Given the description of an element on the screen output the (x, y) to click on. 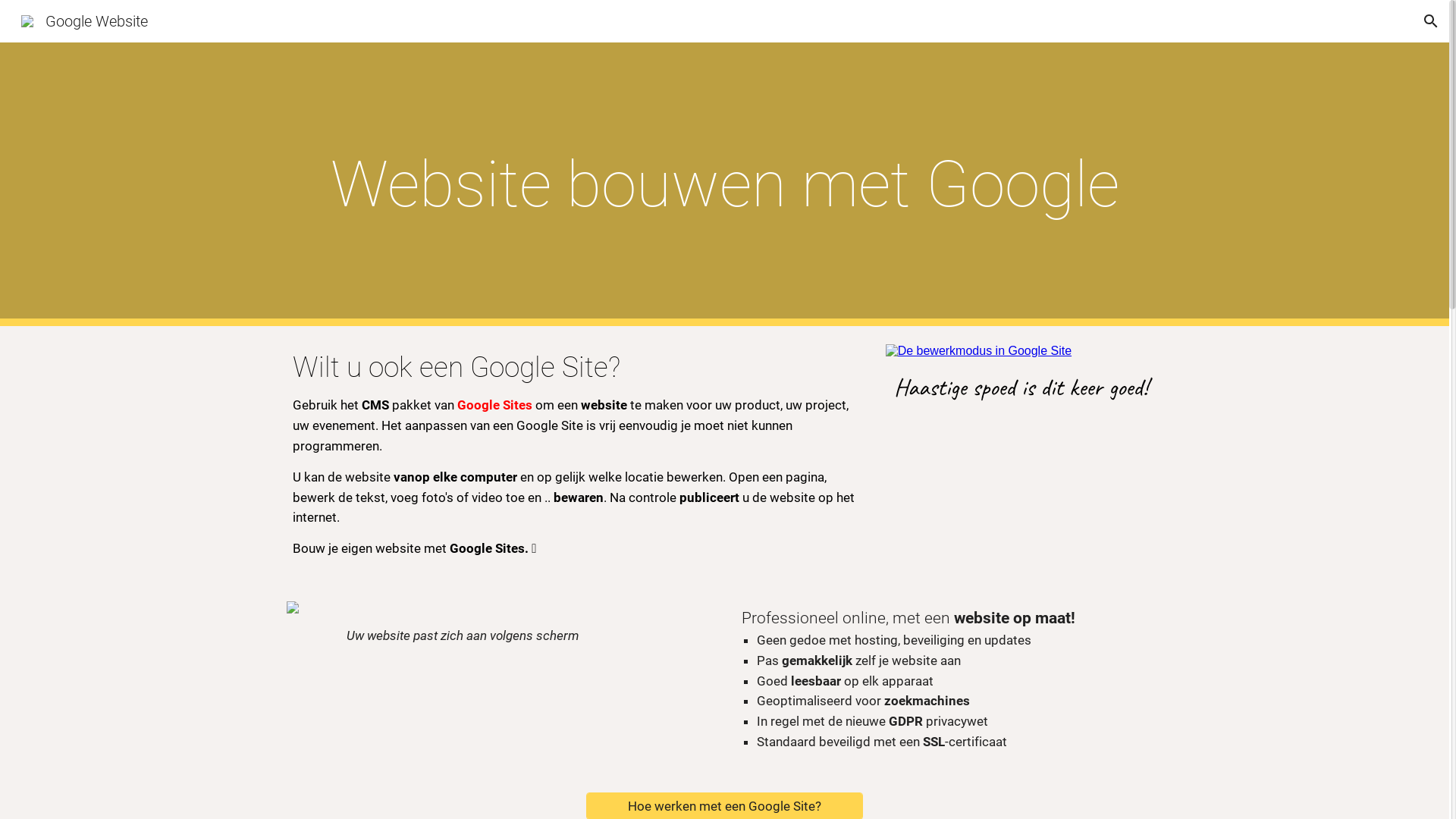
Google Website Element type: text (84, 19)
